Given the description of an element on the screen output the (x, y) to click on. 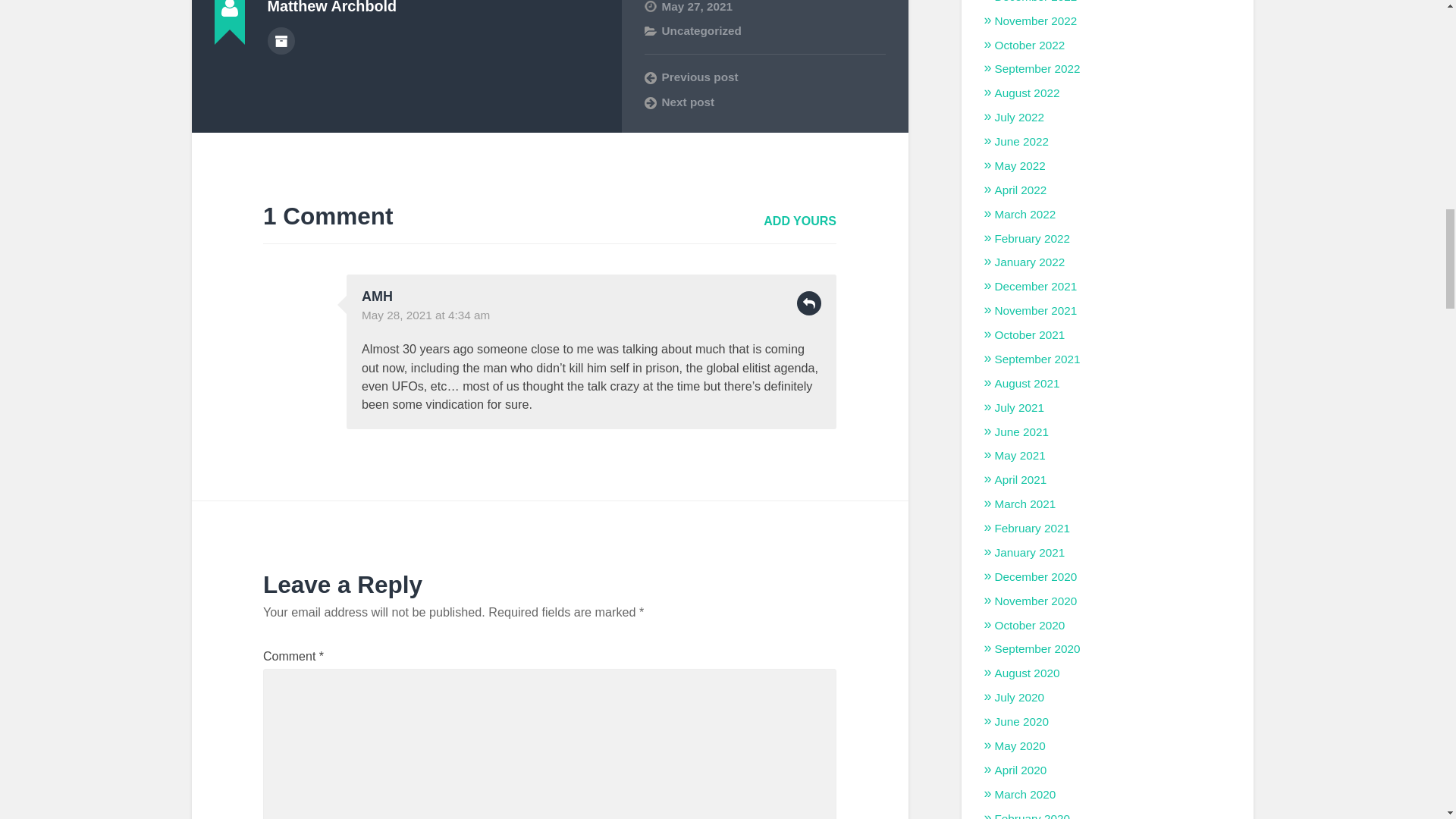
May 28, 2021 at 4:34 am (425, 314)
Author archive (280, 40)
Previous post (765, 77)
Uncategorized (701, 30)
Reply (808, 303)
ADD YOURS (798, 220)
Next post (765, 102)
